Given the description of an element on the screen output the (x, y) to click on. 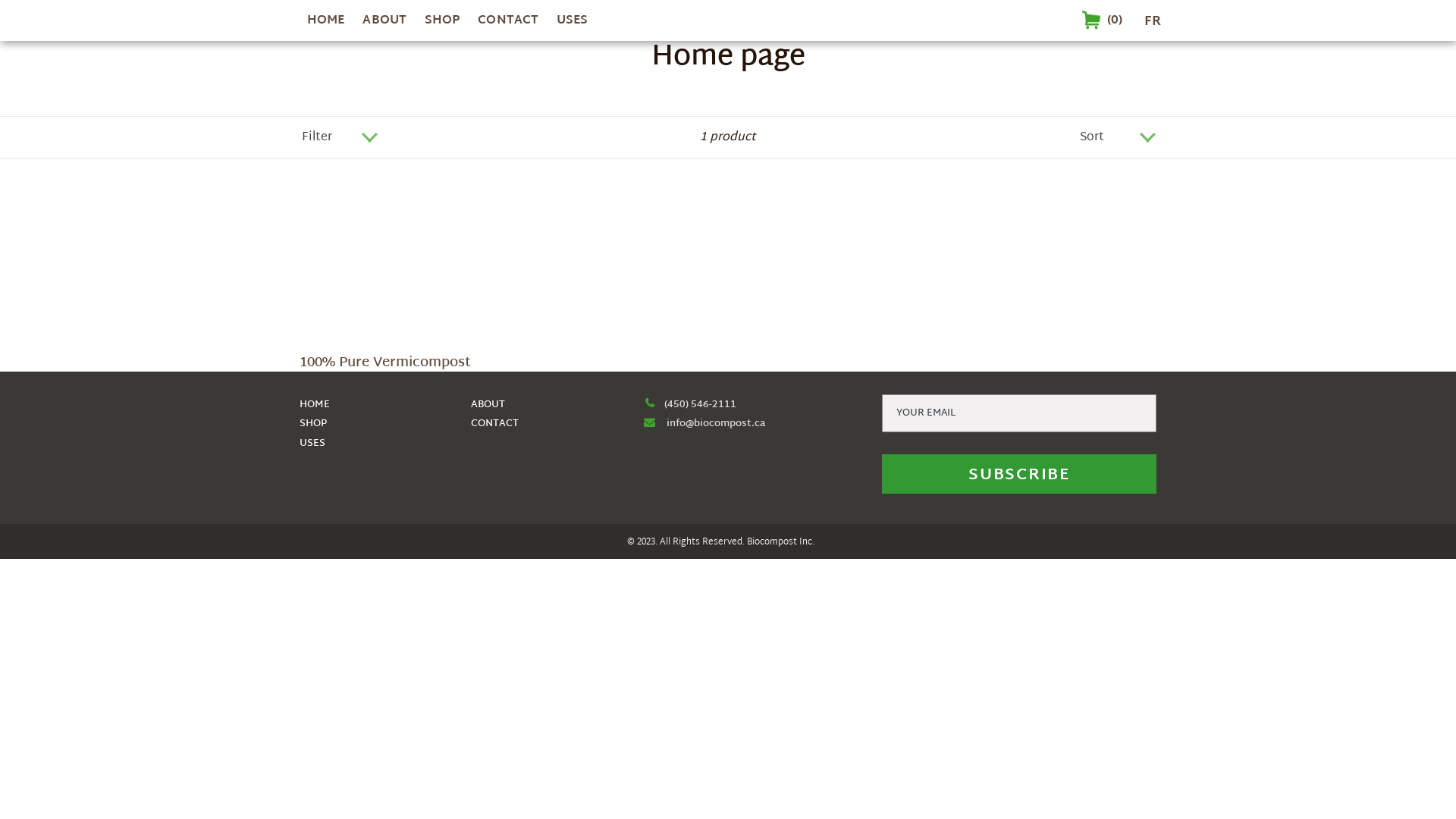
fa-phone Element type: hover (649, 402)
USES Element type: text (572, 21)
CONTACT Element type: text (494, 423)
ABOUT Element type: text (487, 404)
SHOP Element type: text (312, 423)
Cart
Cart
(0) Element type: text (1104, 20)
fa-envelope Element type: hover (649, 421)
100% Pure Vermicompost Element type: text (397, 285)
info@biocompost.ca Element type: text (715, 423)
USES Element type: text (312, 443)
SUBSCRIBE Element type: text (1018, 473)
ABOUT Element type: text (384, 21)
SHOP Element type: text (442, 21)
Biocompost Element type: text (771, 541)
HOME Element type: text (314, 404)
CONTACT Element type: text (508, 21)
FR Element type: text (1152, 21)
HOME Element type: text (325, 21)
(450) 546-2111 Element type: text (689, 404)
